Given the description of an element on the screen output the (x, y) to click on. 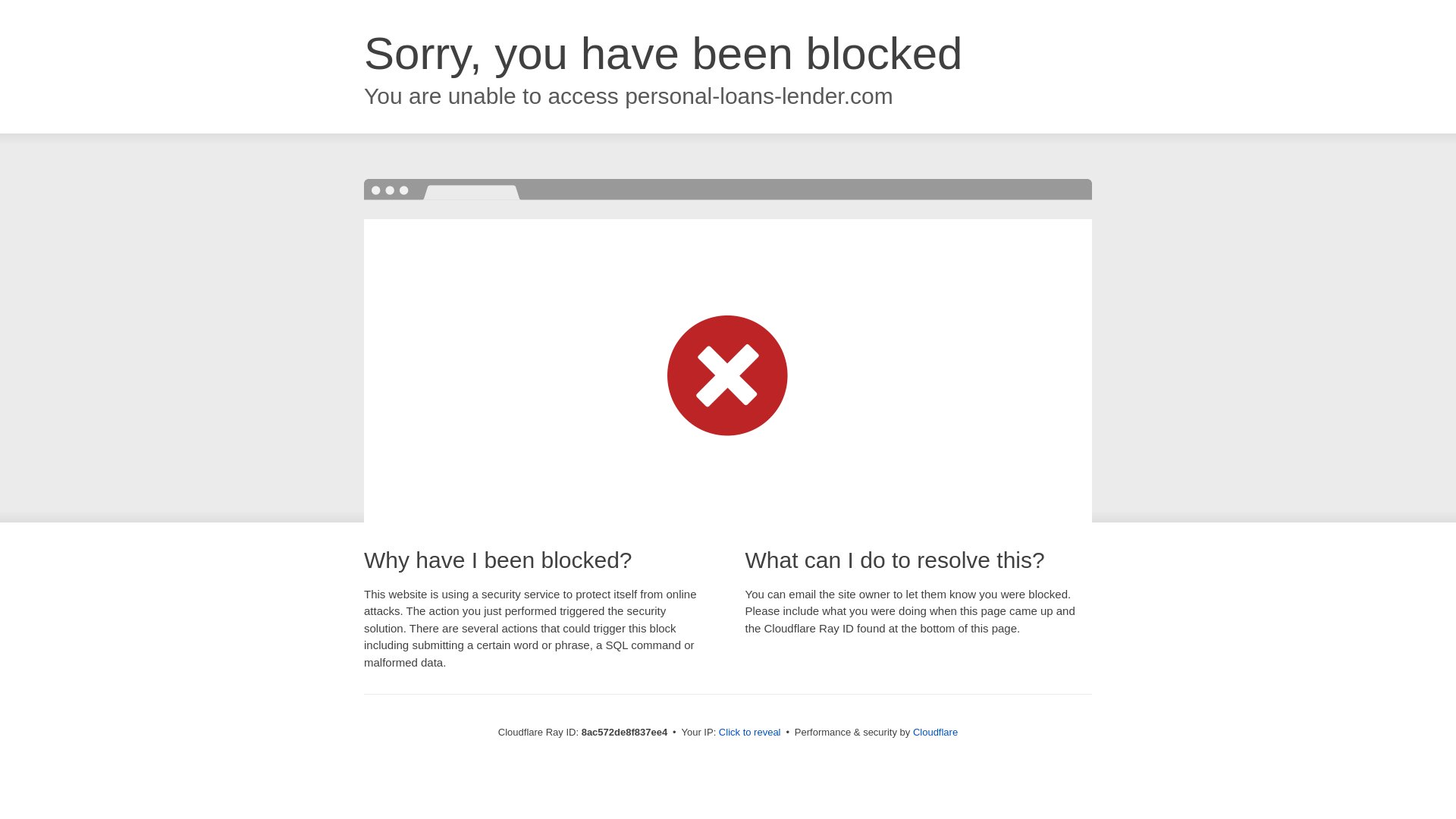
Click to reveal (749, 732)
Cloudflare (935, 731)
